Given the description of an element on the screen output the (x, y) to click on. 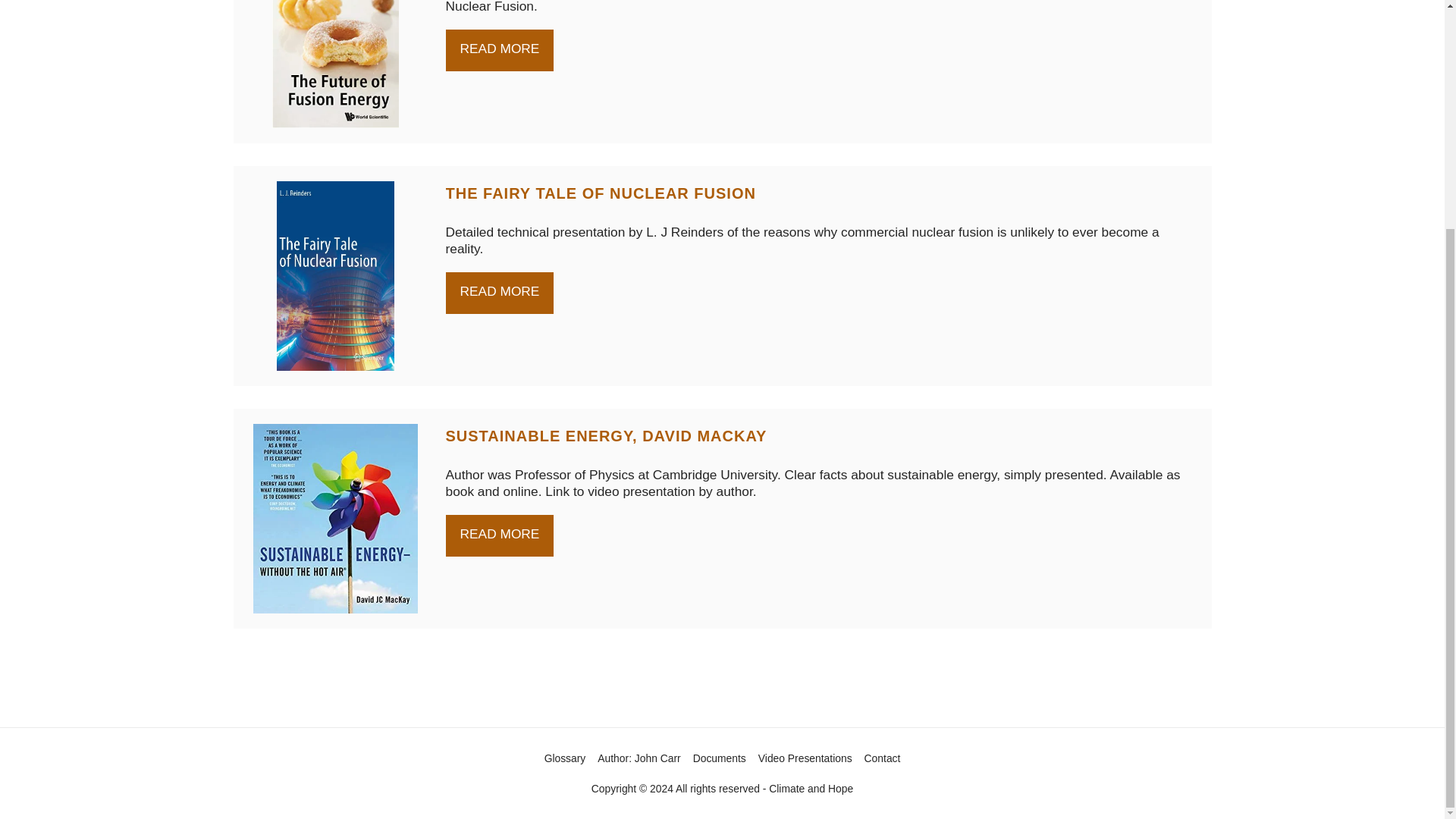
Author: John Carr (637, 758)
THE FAIRY TALE OF NUCLEAR FUSION (600, 193)
Documents (719, 758)
Contact (882, 758)
READ MORE (499, 292)
SUSTAINABLE ENERGY, DAVID MACKAY (606, 435)
READ MORE (499, 535)
READ MORE (499, 50)
Glossary (565, 758)
Video Presentations (804, 758)
